Given the description of an element on the screen output the (x, y) to click on. 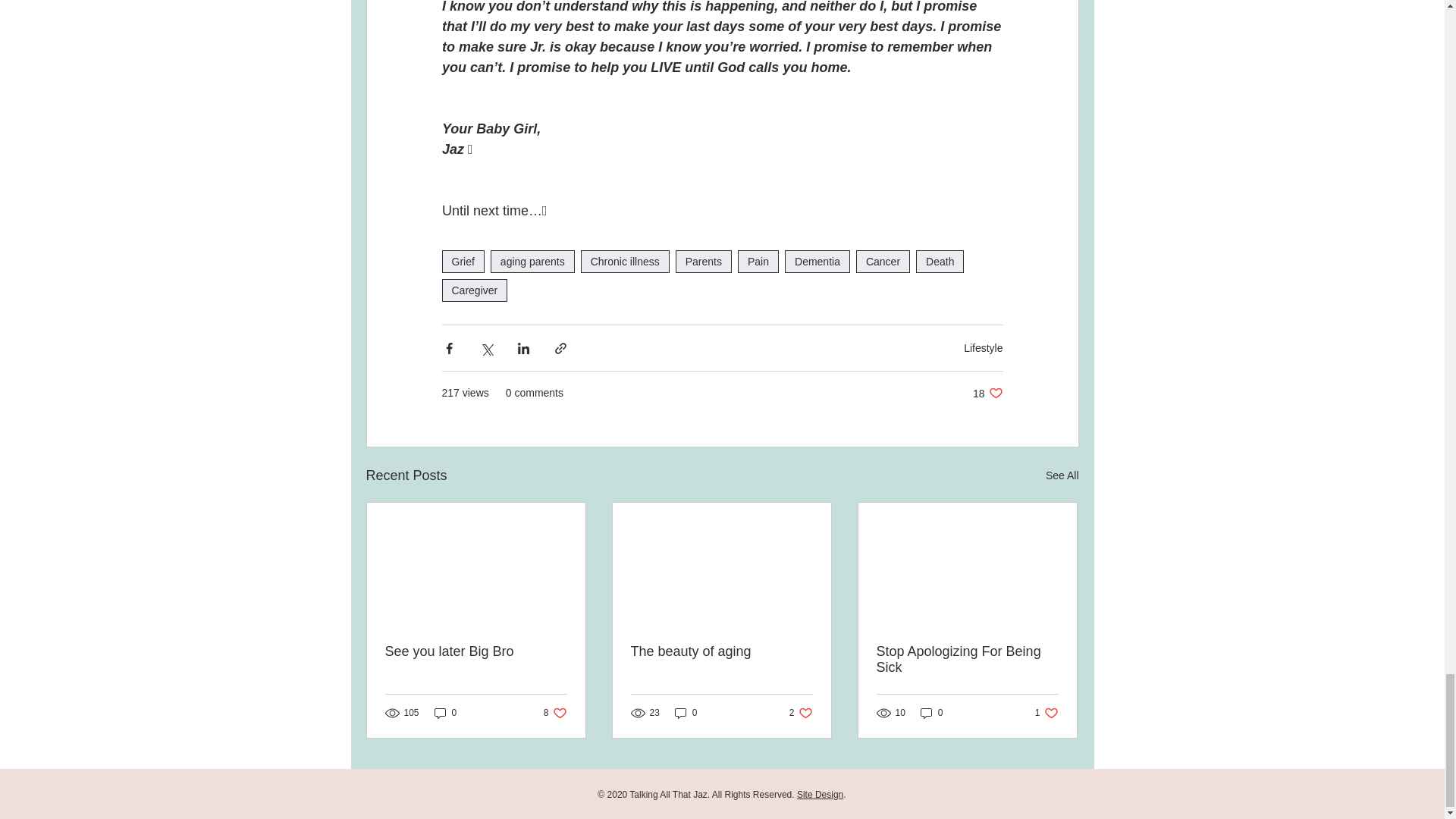
See All (1061, 475)
Parents (703, 261)
Lifestyle (983, 347)
See you later Big Bro (476, 651)
Stop Apologizing For Being Sick (967, 659)
Cancer (1046, 712)
0 (883, 261)
The beauty of aging (685, 712)
aging parents (800, 712)
Caregiver (721, 651)
Pain (532, 261)
Dementia (473, 290)
